Given the description of an element on the screen output the (x, y) to click on. 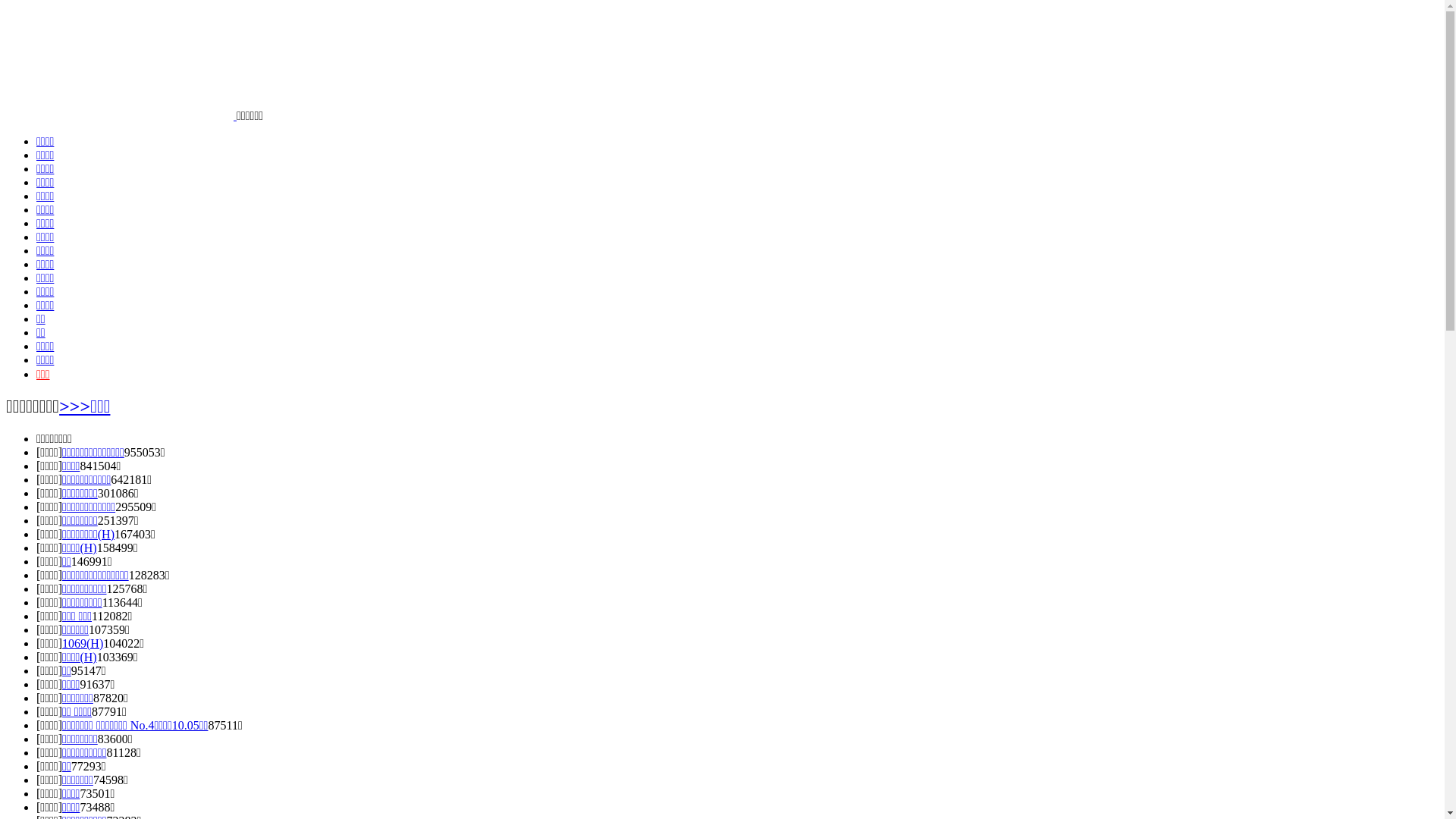
1069(H) Element type: text (82, 643)
